Given the description of an element on the screen output the (x, y) to click on. 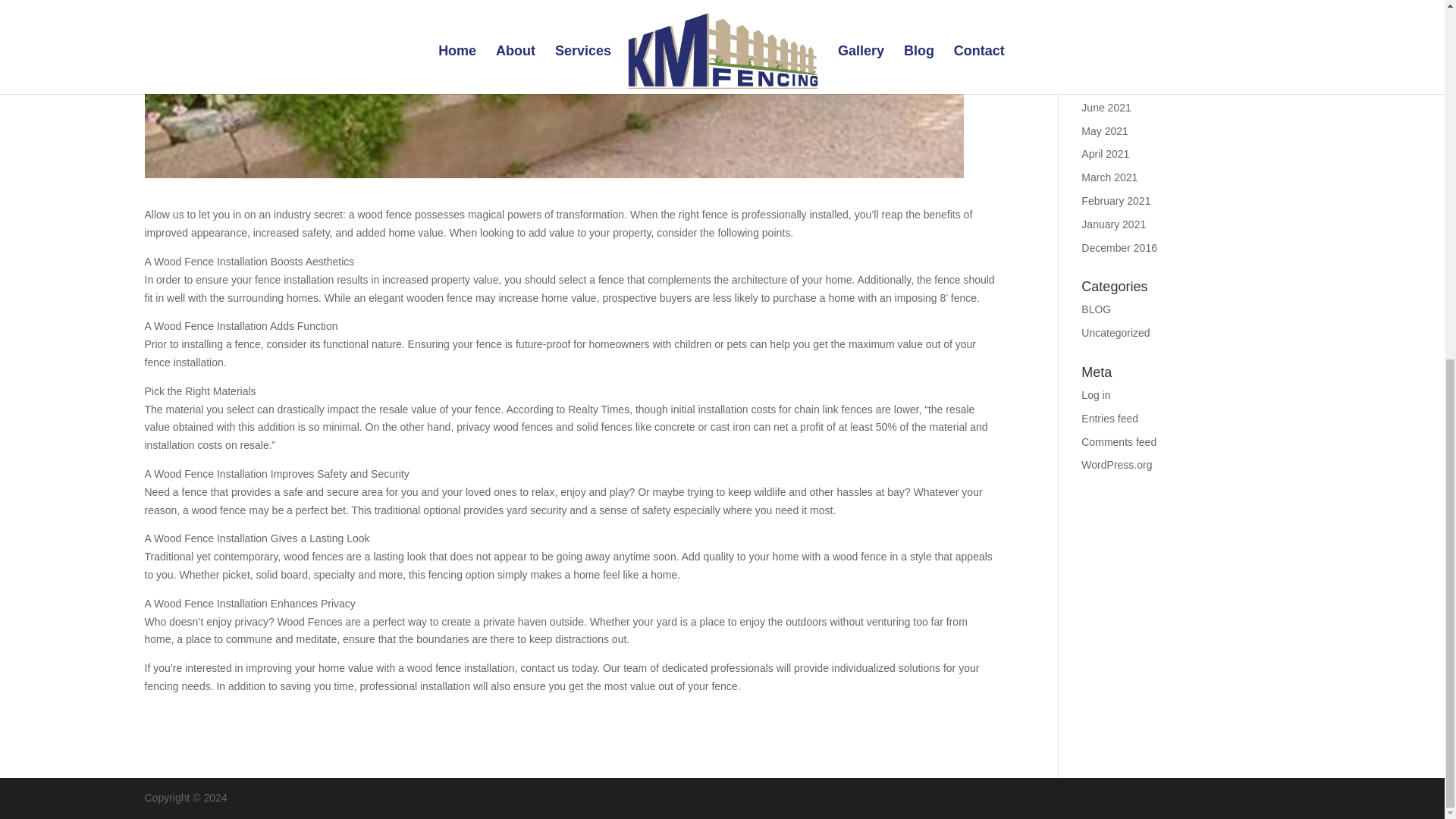
October 2021 (1113, 14)
May 2021 (1103, 131)
August 2021 (1111, 60)
March 2021 (1109, 177)
July 2021 (1103, 83)
April 2021 (1105, 153)
September 2021 (1120, 37)
June 2021 (1106, 107)
